Given the description of an element on the screen output the (x, y) to click on. 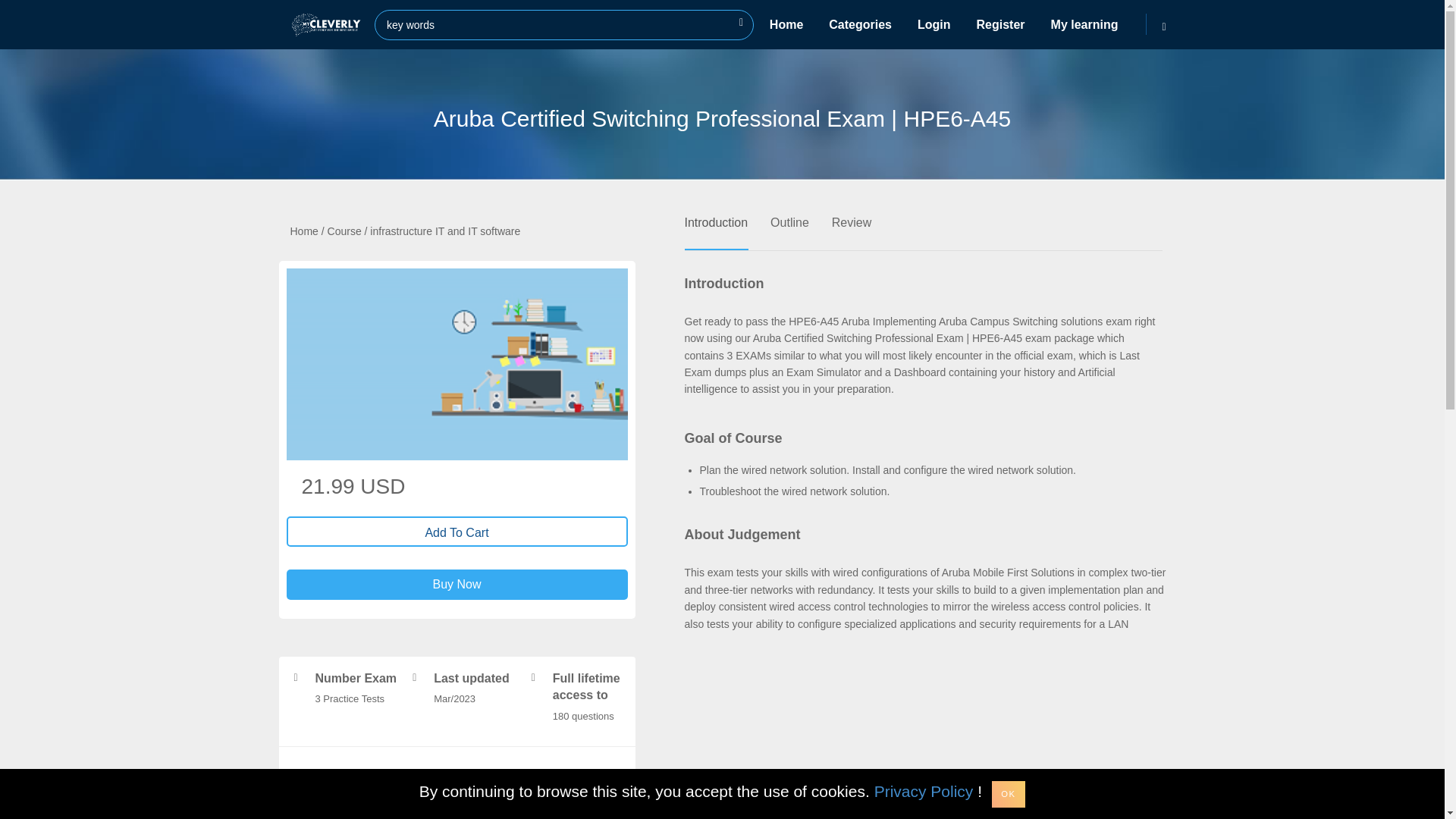
Introduction (716, 219)
Number Exam (356, 677)
Login (933, 24)
Buy Now (456, 584)
Add to cart (456, 531)
Course (344, 231)
Review (850, 219)
Add to cart (456, 531)
Register (1000, 24)
Full lifetime access to (586, 686)
Home (303, 231)
Buy Now (456, 584)
infrastructure IT and IT software (444, 231)
My learning (1084, 24)
Outline (789, 219)
